Given the description of an element on the screen output the (x, y) to click on. 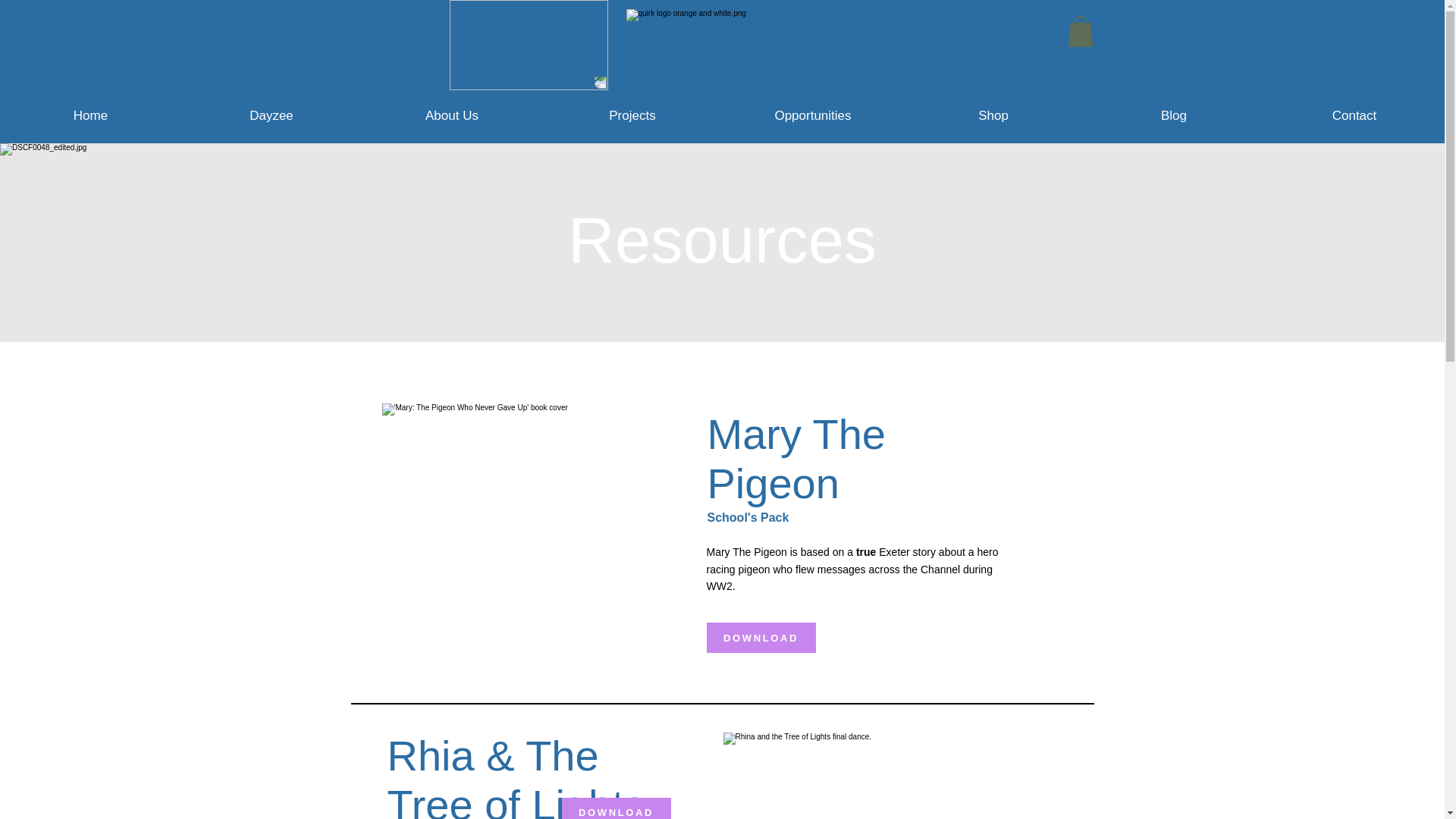
DOWNLOAD (614, 808)
Shop (992, 120)
Home (90, 120)
DOWNLOAD (760, 637)
Dayzee (270, 120)
It.png (527, 45)
Blog (1173, 120)
